Given the description of an element on the screen output the (x, y) to click on. 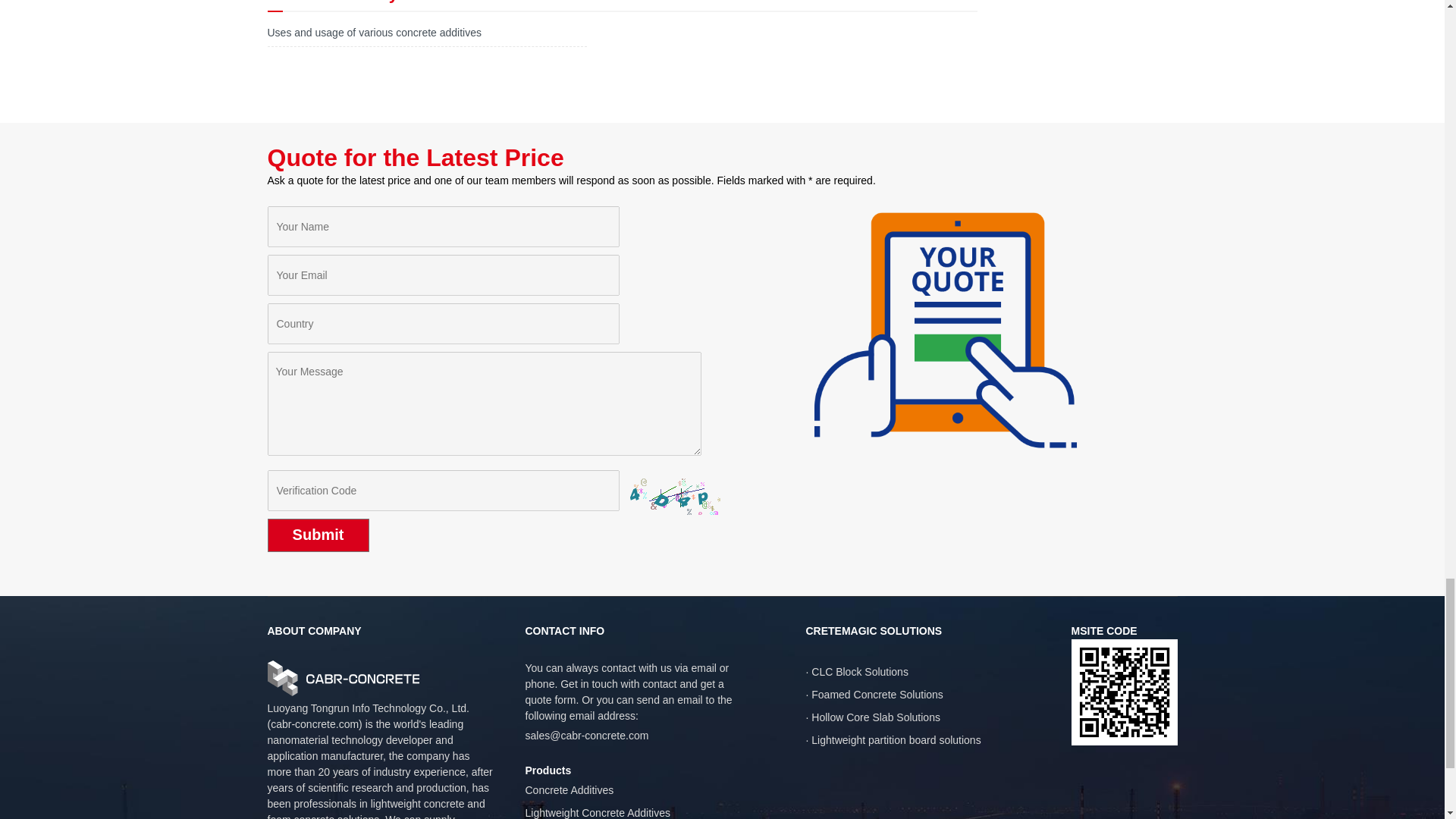
Uses and usage of various concrete additives (373, 32)
Lightweight Concrete Additives (596, 812)
Submit (317, 535)
Concrete Additives (568, 789)
